Given the description of an element on the screen output the (x, y) to click on. 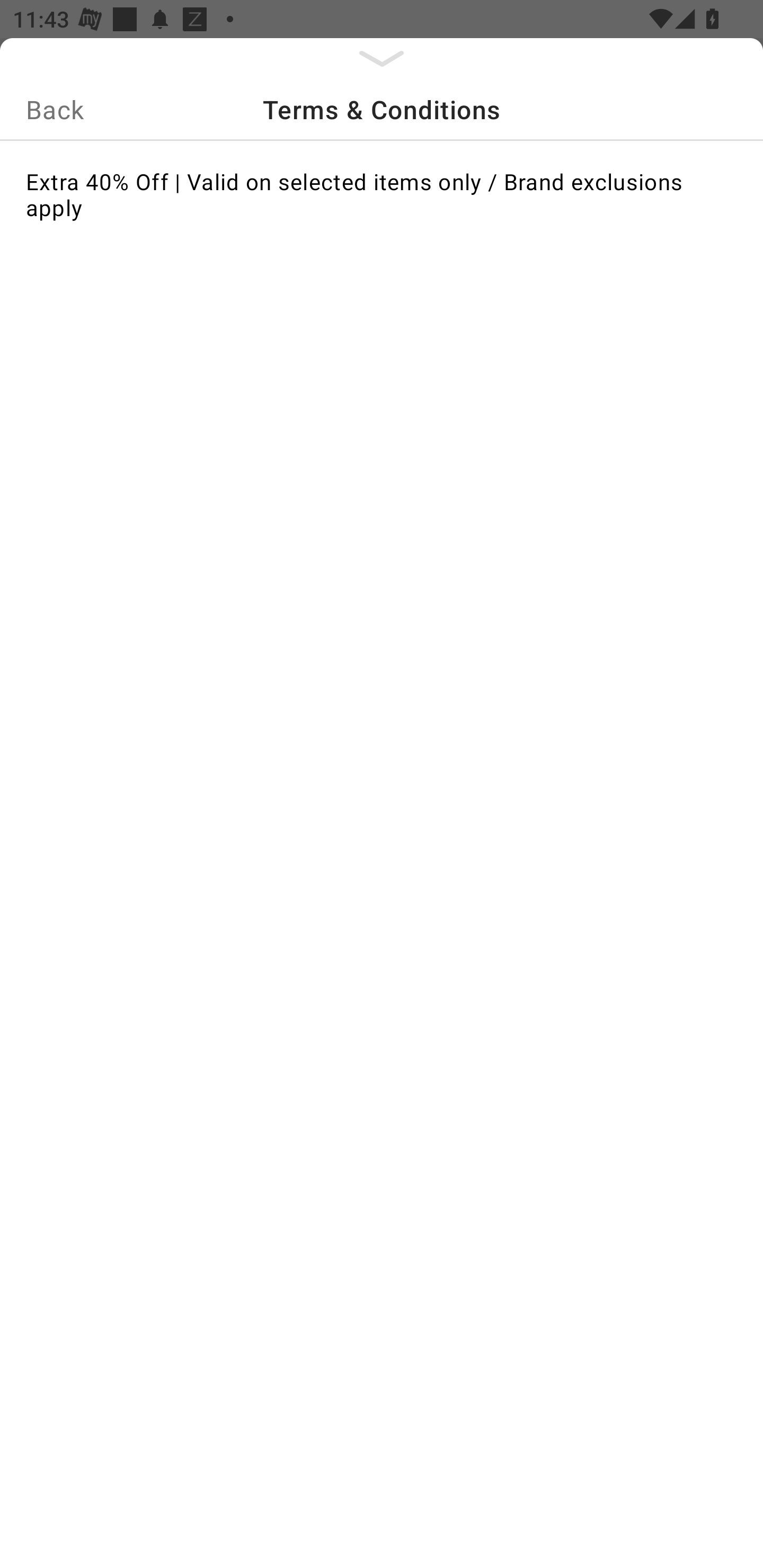
Back (54, 109)
